Given the description of an element on the screen output the (x, y) to click on. 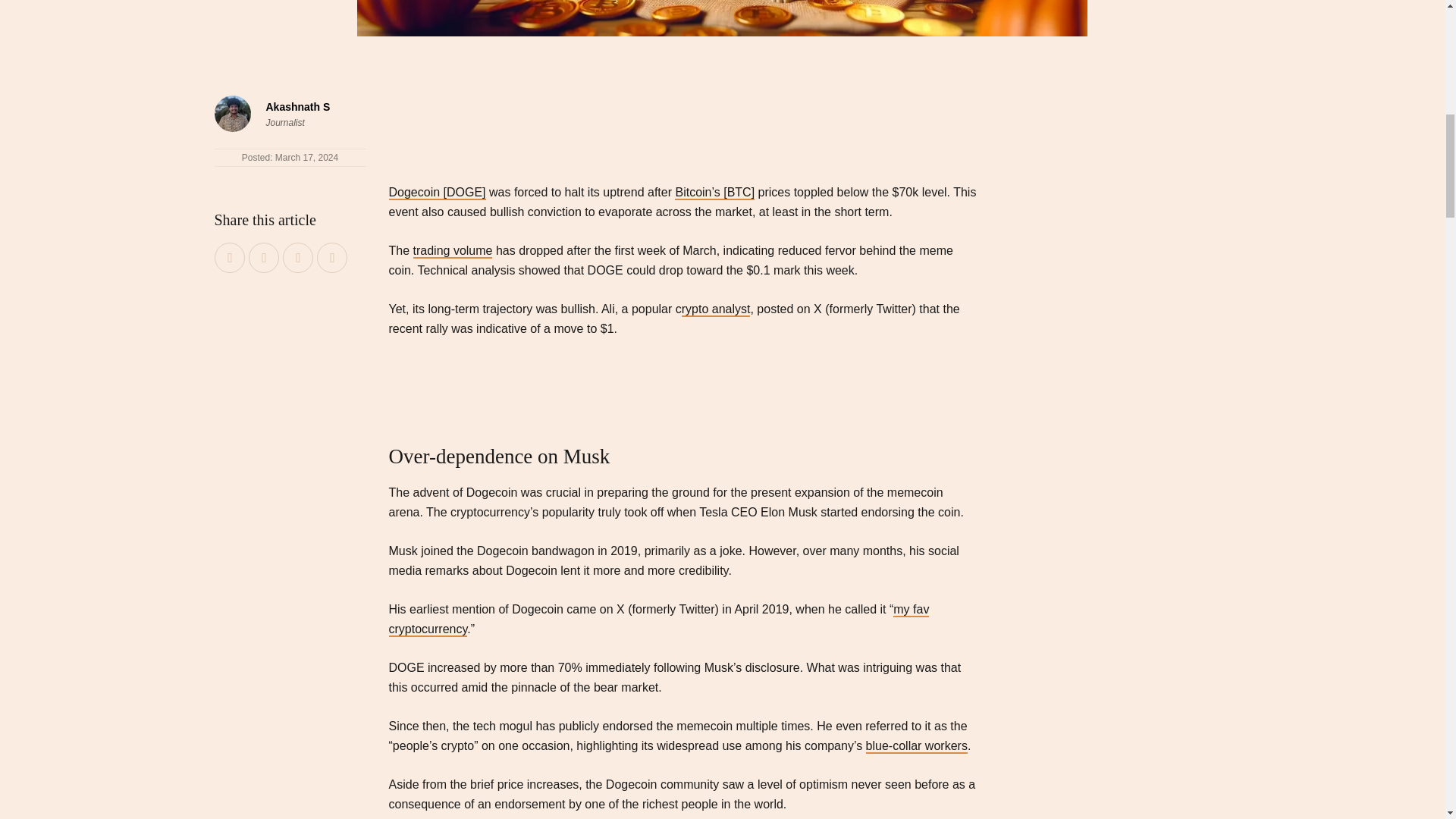
Share on Facebook (230, 258)
Tweet This Post (263, 258)
Pin This Post (298, 258)
Posts by Akashnath S (297, 106)
Akashnath S (297, 106)
